Given the description of an element on the screen output the (x, y) to click on. 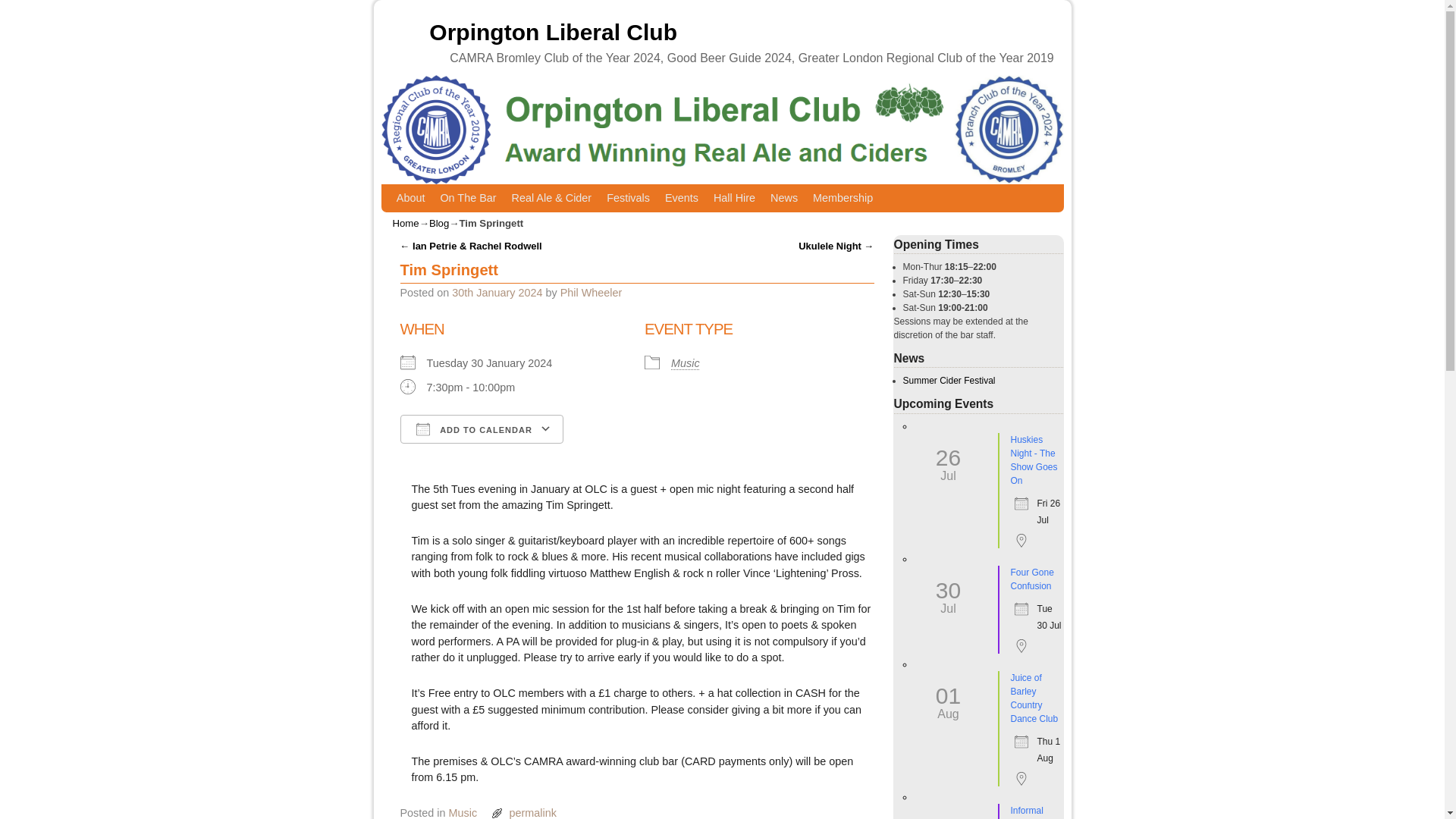
permalink (532, 812)
Skip to secondary content (467, 197)
Membership (842, 197)
On The Bar (467, 197)
Google Calendar (624, 456)
Home (406, 223)
Permalink to Tim Springett (532, 812)
Events (682, 197)
Download ICS (474, 456)
About (410, 197)
Orpington Liberal Club (553, 32)
Orpington Liberal Club (553, 32)
View all posts by Phil Wheeler (591, 292)
Music (685, 363)
Music (462, 812)
